Given the description of an element on the screen output the (x, y) to click on. 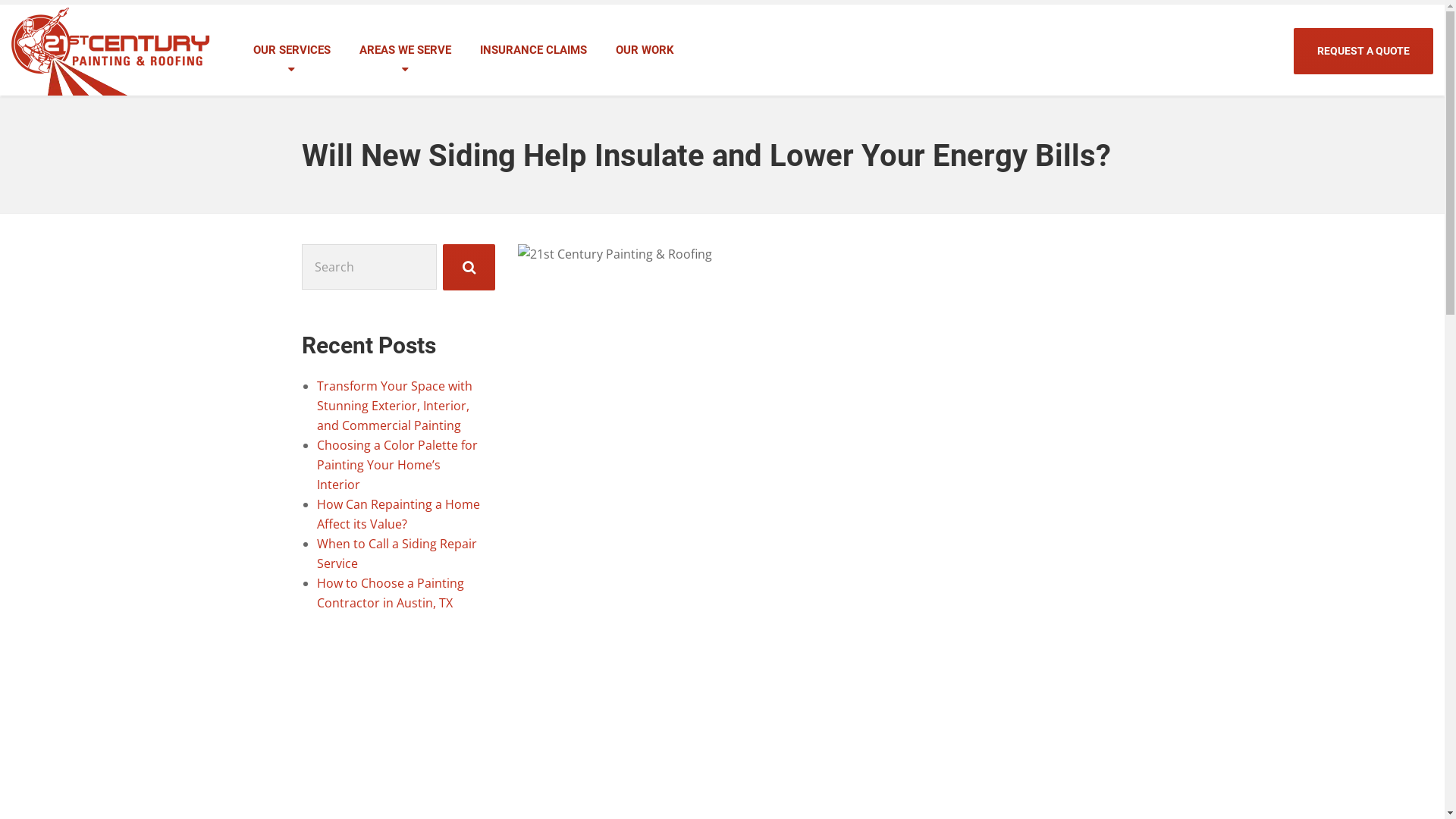
INSURANCE CLAIMS Element type: text (533, 49)
How Can Repainting a Home Affect its Value? Element type: text (398, 513)
AREAS WE SERVE Element type: text (405, 49)
When to Call a Siding Repair Service Element type: text (396, 553)
How to Choose a Painting Contractor in Austin, TX Element type: text (390, 592)
OUR SERVICES Element type: text (291, 49)
OUR WORK Element type: text (644, 49)
REQUEST A QUOTE Element type: text (1363, 51)
